Given the description of an element on the screen output the (x, y) to click on. 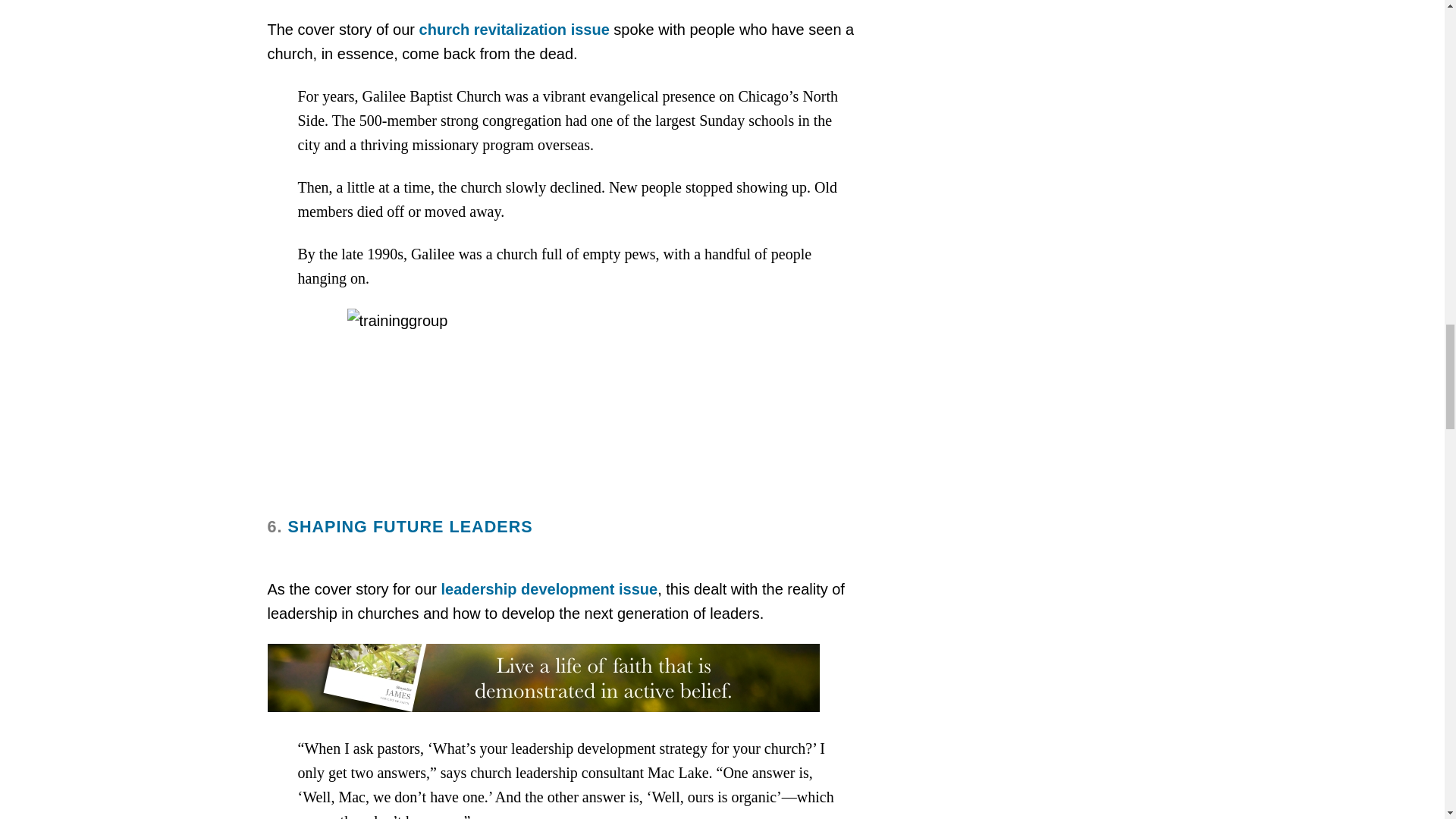
SHAPING FUTURE LEADERS (410, 526)
leadership development issue (549, 588)
church revitalization issue (514, 29)
